Given the description of an element on the screen output the (x, y) to click on. 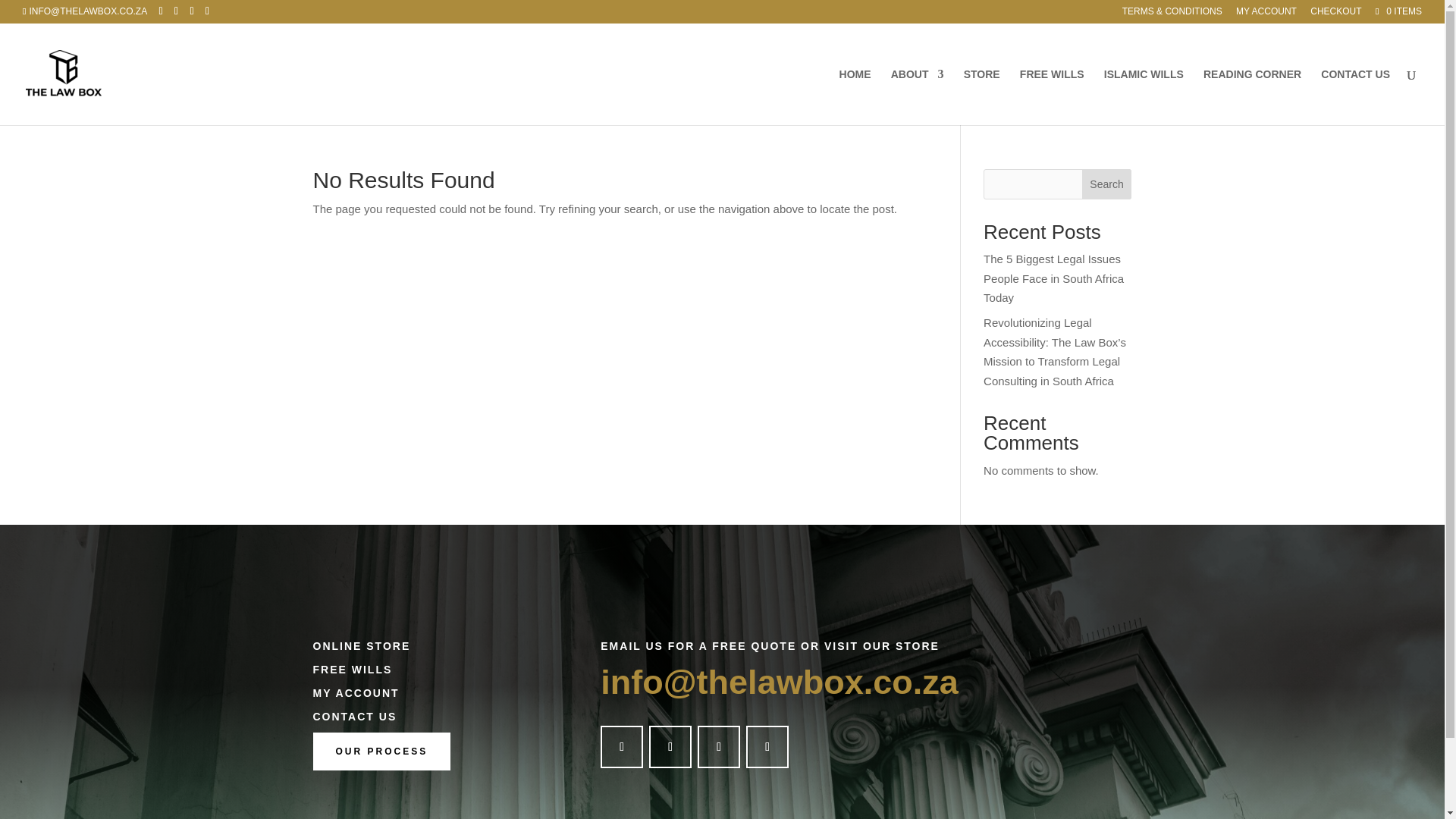
CONTACT US (1355, 96)
FREE WILLS (1052, 96)
Follow on X (670, 746)
Follow on Instagram (718, 746)
Search (1106, 183)
MY ACCOUNT (1266, 14)
READING CORNER (1252, 96)
OUR PROCESS (381, 751)
The 5 Biggest Legal Issues People Face in South Africa Today (1054, 277)
0 ITEMS (1397, 10)
